Given the description of an element on the screen output the (x, y) to click on. 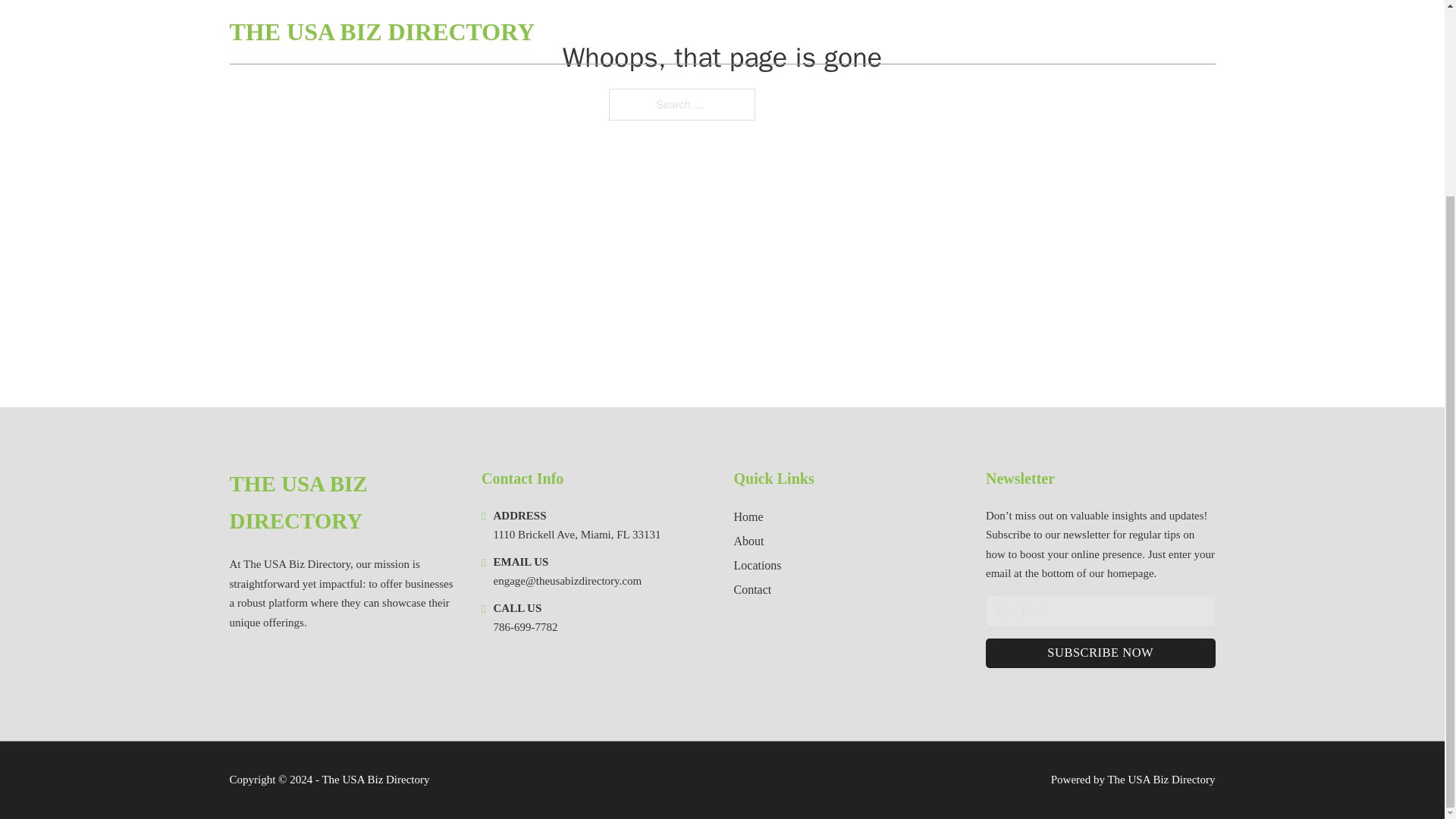
Locations (757, 565)
Contact (752, 589)
786-699-7782 (525, 626)
THE USA BIZ DIRECTORY (343, 503)
SUBSCRIBE NOW (1100, 653)
About (748, 540)
Home (747, 516)
